Given the description of an element on the screen output the (x, y) to click on. 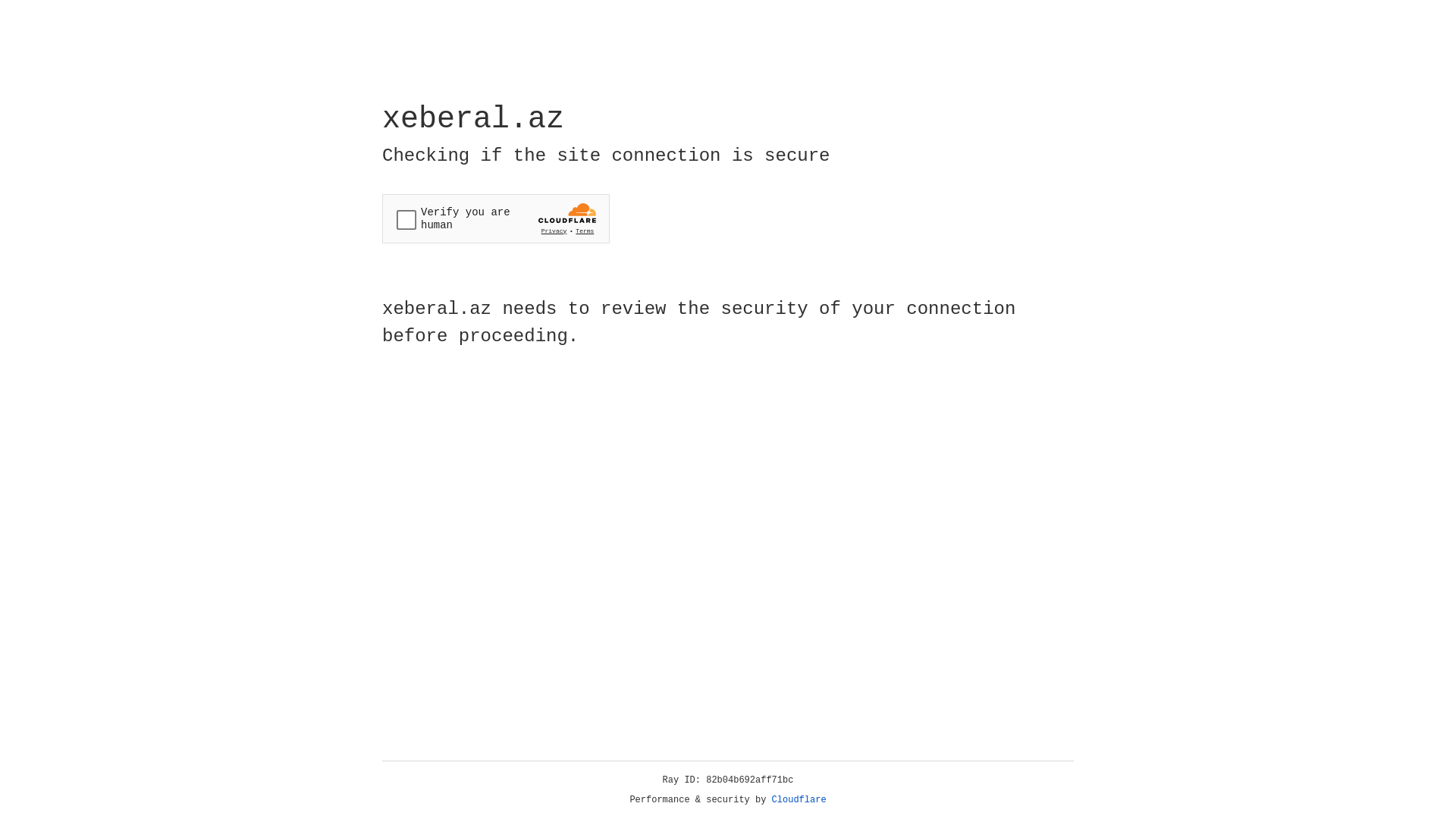
Cloudflare Element type: text (798, 799)
Widget containing a Cloudflare security challenge Element type: hover (495, 218)
